Given the description of an element on the screen output the (x, y) to click on. 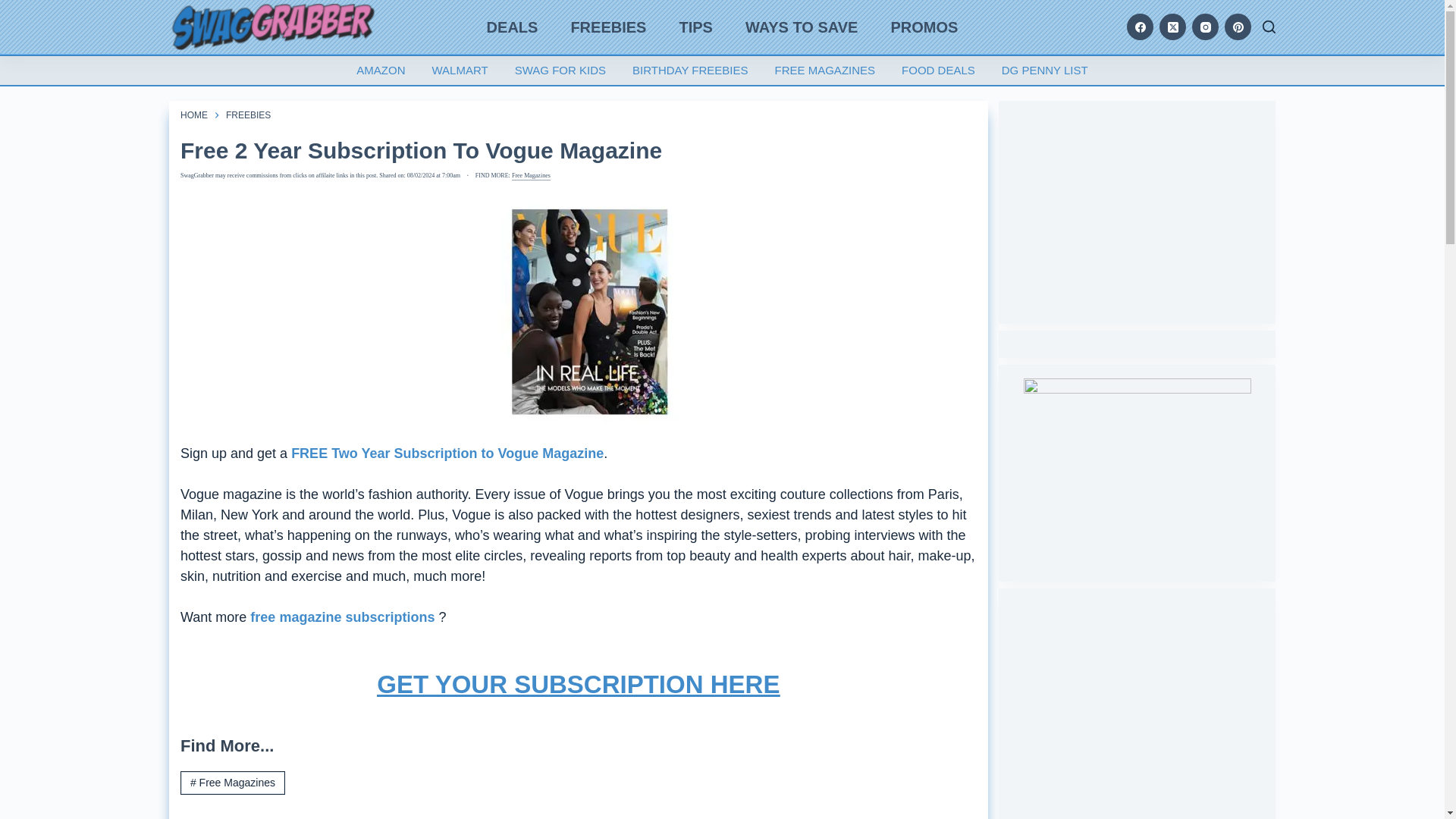
Free Magazines (531, 175)
FREE Two Year Subscription to Vogue Magazine (447, 453)
PROMOS (924, 27)
free magazine subscriptions (344, 616)
FREEBIES (608, 27)
FOOD DEALS (938, 70)
Free 2 Year Subscription To Vogue Magazine (578, 150)
SWAG FOR KIDS (559, 70)
Skip to content (15, 7)
AMAZON (381, 70)
